Given the description of an element on the screen output the (x, y) to click on. 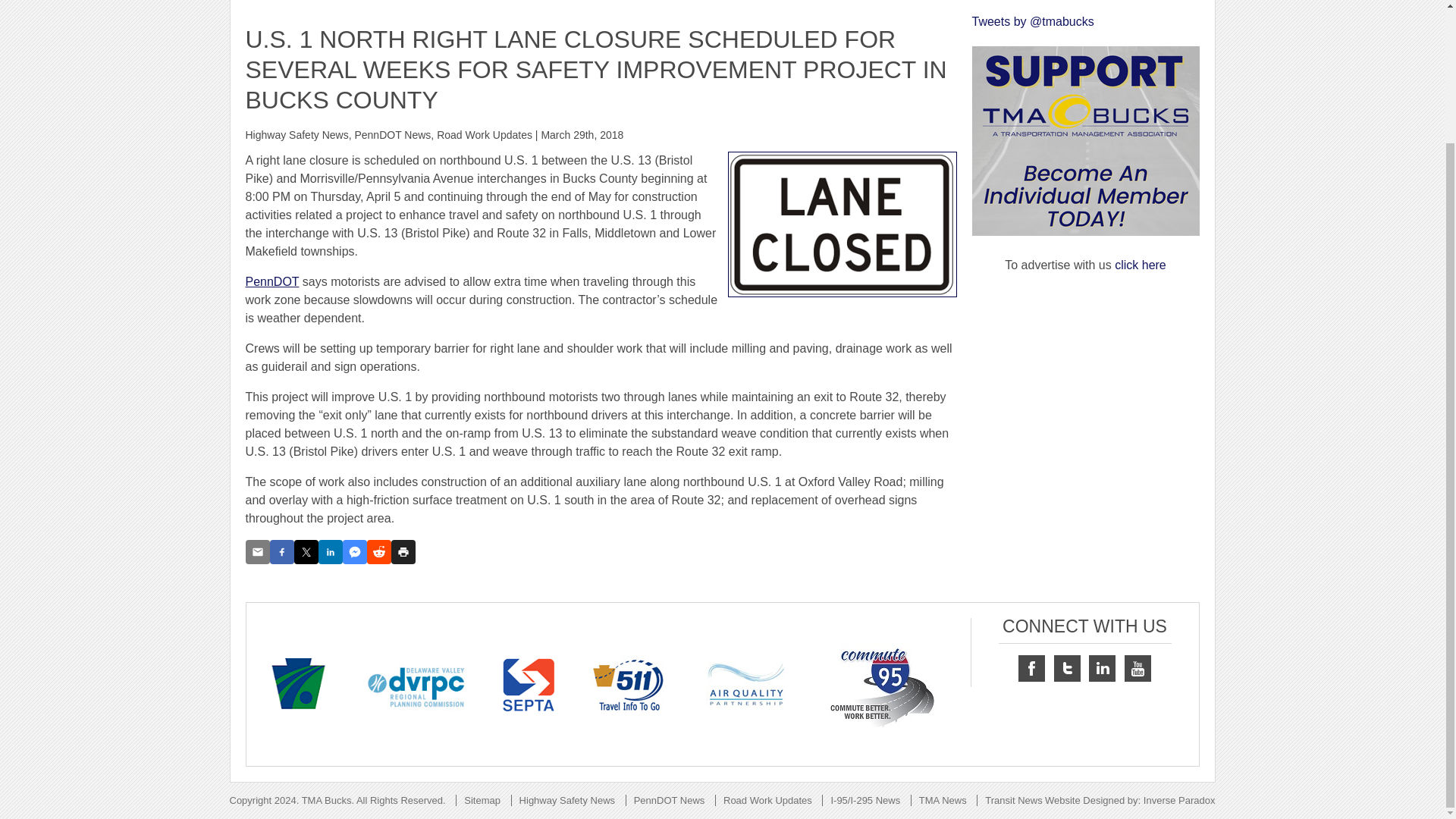
Road Work Updates (484, 134)
PennDOT News (391, 134)
click here (1140, 264)
PennDOT (272, 281)
Highway Safety News (297, 134)
